Given the description of an element on the screen output the (x, y) to click on. 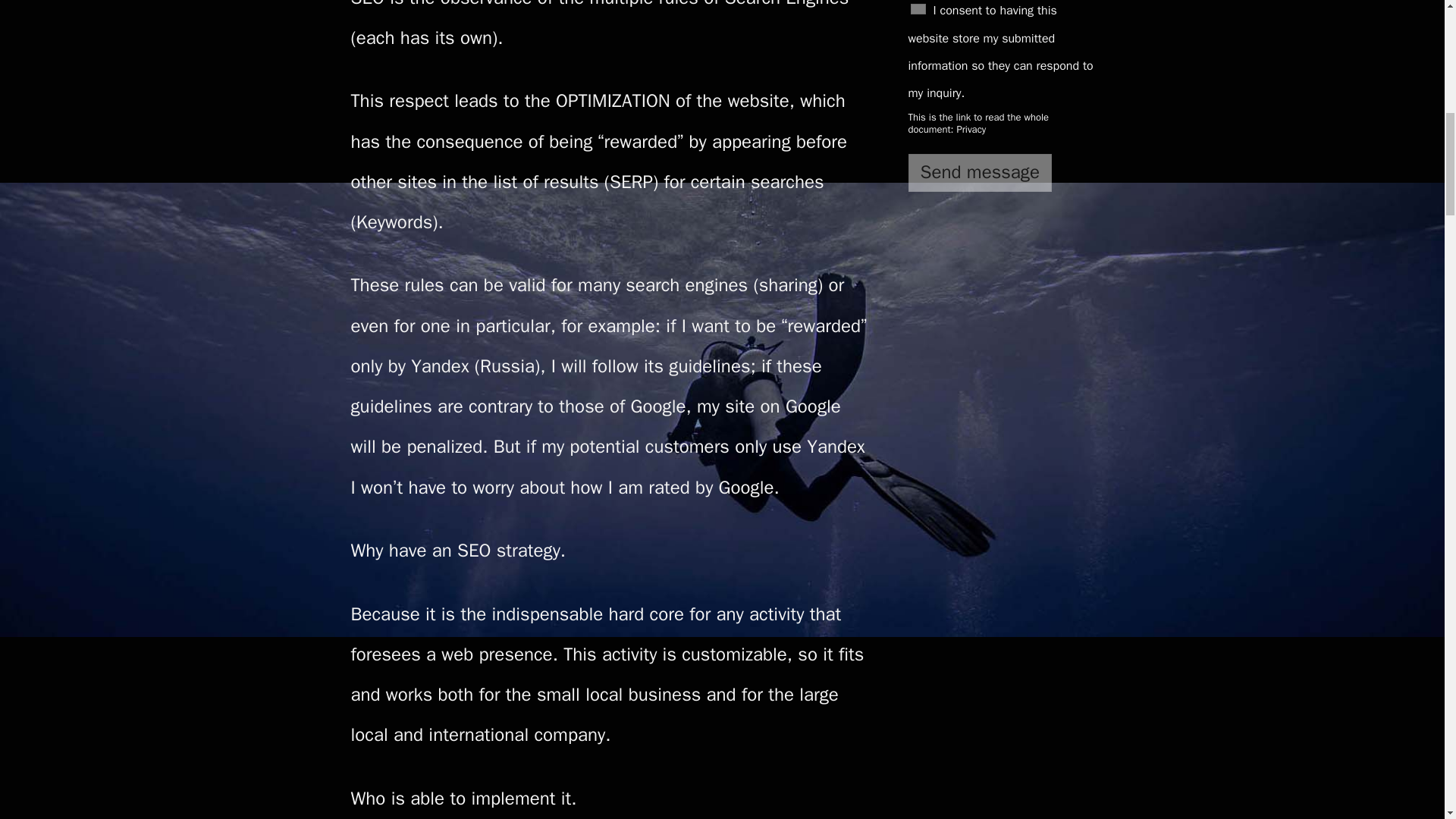
Privacy (970, 128)
Send message (980, 172)
